Given the description of an element on the screen output the (x, y) to click on. 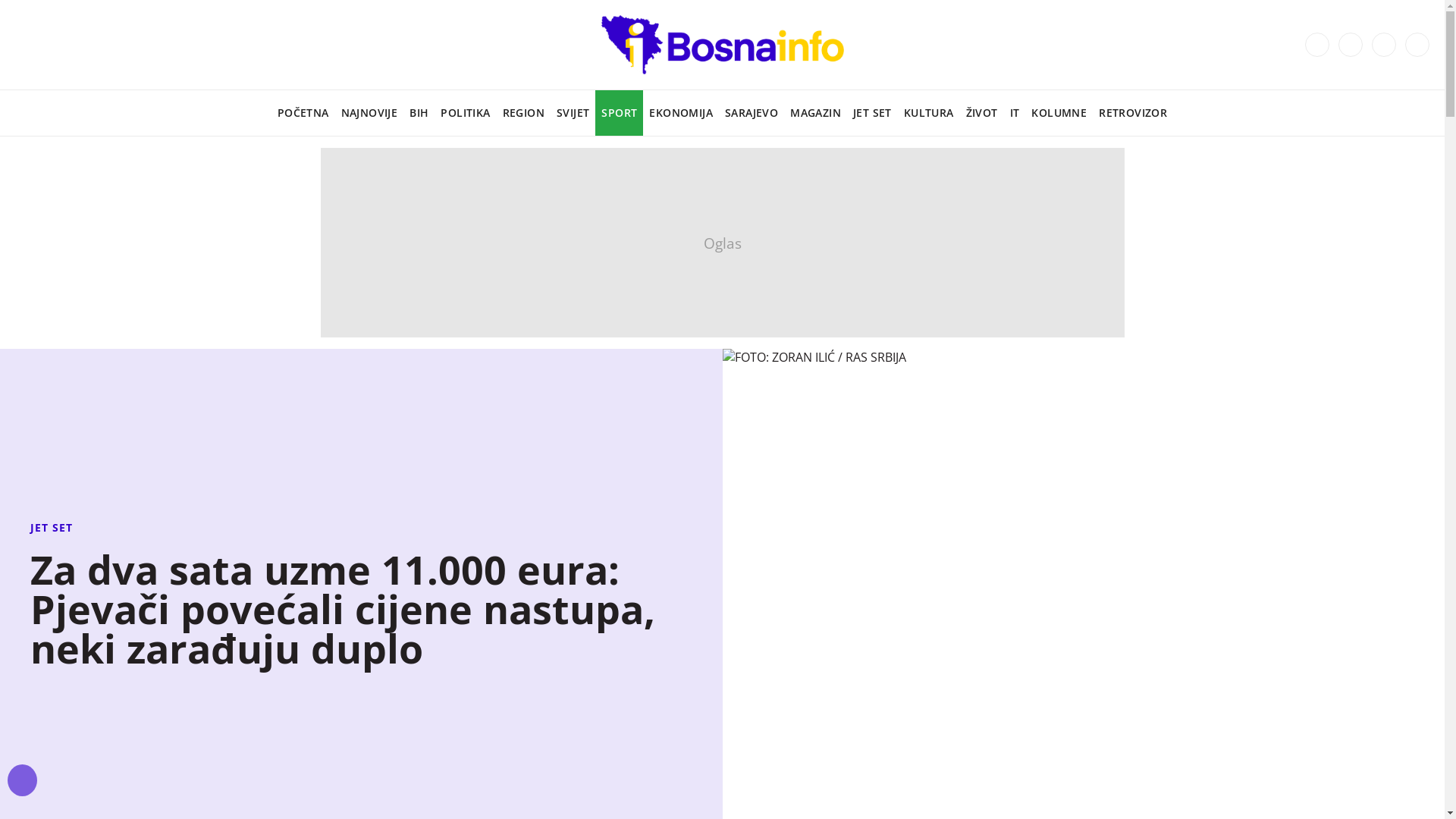
JET SET Element type: text (872, 112)
SVIJET Element type: text (572, 112)
REGION Element type: text (523, 112)
BIH Element type: text (418, 112)
NAJNOVIJE Element type: text (369, 112)
RETROVIZOR Element type: text (1132, 112)
SPORT Element type: text (619, 112)
KOLUMNE Element type: text (1058, 112)
IT Element type: text (1015, 112)
BosnaInfo Element type: hover (721, 44)
SARAJEVO Element type: text (751, 112)
JET SET Element type: text (361, 527)
POLITIKA Element type: text (464, 112)
KULTURA Element type: text (928, 112)
EKONOMIJA Element type: text (680, 112)
MAGAZIN Element type: text (815, 112)
